Given the description of an element on the screen output the (x, y) to click on. 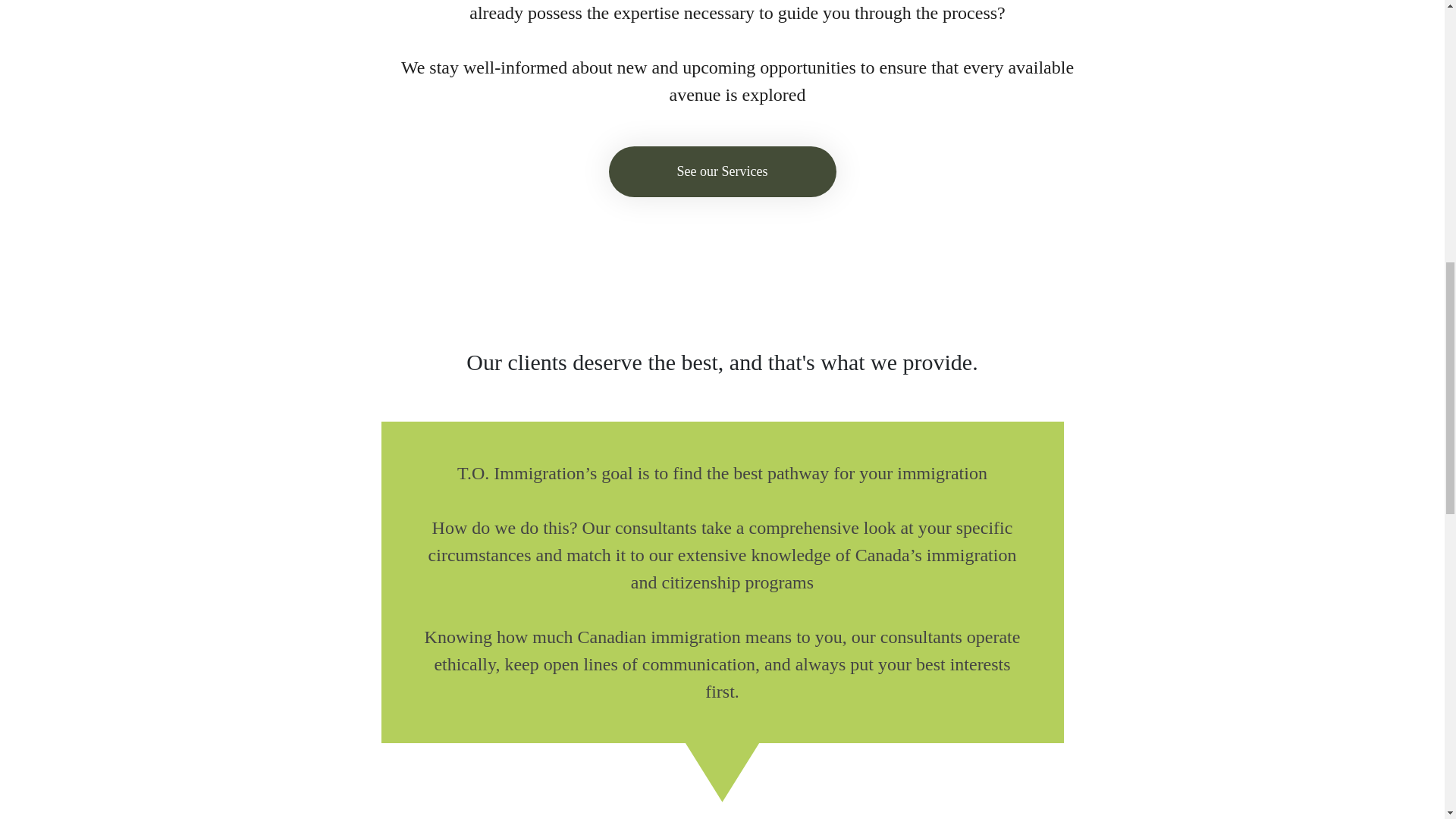
See our Services (721, 171)
